Given the description of an element on the screen output the (x, y) to click on. 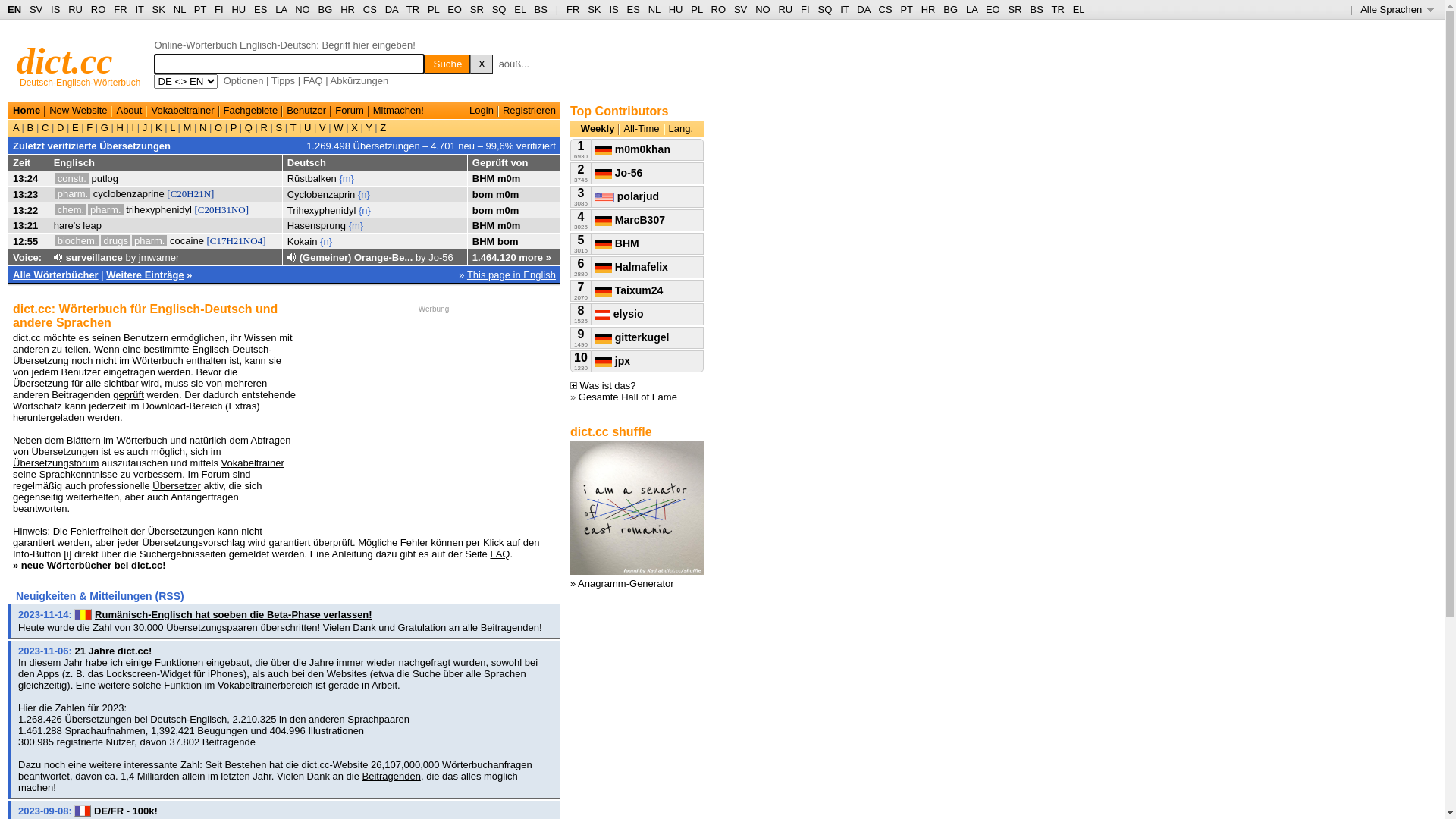
X Element type: text (354, 127)
RU Element type: text (785, 9)
L Element type: text (172, 127)
Suche Element type: text (447, 63)
F Element type: text (89, 127)
FAQ Element type: text (499, 553)
m0m Element type: text (506, 193)
NO Element type: text (302, 9)
G Element type: text (103, 127)
PL Element type: text (696, 9)
IS Element type: text (613, 9)
EL Element type: text (1079, 9)
FI Element type: text (218, 9)
(Gemeiner) Orange-Be... Element type: text (356, 257)
pharm. Element type: text (72, 193)
13:24 Element type: text (24, 178)
PT Element type: text (906, 9)
jpx Element type: text (612, 360)
dict.cc Element type: text (64, 60)
I Element type: text (132, 127)
Gesamte Hall of Fame Element type: text (627, 396)
constr. Element type: text (71, 178)
Forum Element type: text (349, 110)
Login Element type: text (481, 110)
Q Element type: text (247, 127)
LA Element type: text (280, 9)
Benutzer Element type: text (306, 110)
W Element type: text (338, 127)
BS Element type: text (540, 9)
Lang. Element type: text (680, 128)
TR Element type: text (1057, 9)
X Element type: text (481, 63)
MarcB307 Element type: text (630, 219)
U Element type: text (307, 127)
E Element type: text (75, 127)
biochem. Element type: text (77, 240)
SV Element type: text (740, 9)
drugs Element type: text (115, 240)
About Element type: text (128, 110)
HR Element type: text (347, 9)
bom Element type: text (507, 240)
FI Element type: text (804, 9)
SV Element type: text (35, 9)
pharm. Element type: text (148, 240)
CS Element type: text (369, 9)
Alle Sprachen  Element type: text (1397, 9)
BHM Element type: text (617, 243)
m0m Element type: text (508, 178)
andere Sprachen Element type: text (61, 322)
gitterkugel Element type: text (631, 337)
CS Element type: text (884, 9)
cyclobenzaprine [C20H21N] Element type: text (153, 193)
bom Element type: text (482, 210)
Taixum24 Element type: text (628, 290)
LA Element type: text (971, 9)
SK Element type: text (593, 9)
trihexyphenidyl [C20H31NO] Element type: text (186, 209)
Jo-56 Element type: text (440, 257)
EO Element type: text (992, 9)
13:23 Element type: text (24, 193)
NL Element type: text (179, 9)
Halmafelix Element type: text (631, 266)
bom Element type: text (482, 193)
FR Element type: text (119, 9)
HU Element type: text (238, 9)
jmwarner Element type: text (158, 257)
DA Element type: text (862, 9)
M Element type: text (187, 127)
Y Element type: text (368, 127)
NO Element type: text (762, 9)
PT Element type: text (200, 9)
O Element type: text (217, 127)
R Element type: text (263, 127)
hare's leap Element type: text (77, 225)
Weekly Element type: text (597, 128)
pharm. Element type: text (104, 209)
RO Element type: text (98, 9)
T Element type: text (292, 127)
Beitragenden Element type: text (509, 627)
C Element type: text (44, 127)
ES Element type: text (260, 9)
Tipps Element type: text (282, 80)
Vokabeltrainer Element type: text (252, 462)
cocaine [C17H21NO4] Element type: text (217, 240)
SR Element type: text (476, 9)
m0m Element type: text (506, 210)
SK Element type: text (158, 9)
polarjud Element type: text (626, 196)
BG Element type: text (325, 9)
K Element type: text (158, 127)
BS Element type: text (1035, 9)
FAQ Element type: text (313, 80)
J Element type: text (144, 127)
BHM Element type: text (483, 225)
Was ist das? Element type: text (603, 385)
m0m Element type: text (508, 225)
Home Element type: text (26, 110)
S Element type: text (279, 127)
B Element type: text (30, 127)
PL Element type: text (433, 9)
RO Element type: text (718, 9)
12:55 Element type: text (24, 240)
D Element type: text (59, 127)
IT Element type: text (844, 9)
Fachgebiete Element type: text (250, 110)
HU Element type: text (675, 9)
Z Element type: text (381, 127)
A Element type: text (16, 127)
IT Element type: text (138, 9)
RU Element type: text (75, 9)
EO Element type: text (454, 9)
Vokabeltrainer Element type: text (181, 110)
13:21 Element type: text (24, 225)
Jo-56 Element type: text (618, 172)
HR Element type: text (928, 9)
P Element type: text (233, 127)
13:22 Element type: text (24, 210)
RSS Element type: text (169, 595)
This page in English Element type: text (511, 273)
NL Element type: text (654, 9)
Mitmachen! Element type: text (398, 110)
BHM Element type: text (483, 240)
N Element type: text (202, 127)
Voice: Element type: text (26, 257)
V Element type: text (322, 127)
ES Element type: text (633, 9)
BHM Element type: text (483, 178)
SQ Element type: text (824, 9)
New Website Element type: text (77, 110)
m0m0khan Element type: text (632, 149)
chem. Element type: text (70, 209)
EL Element type: text (519, 9)
EN Element type: text (14, 9)
surveillance Element type: text (93, 257)
SQ Element type: text (499, 9)
BG Element type: text (950, 9)
putlog Element type: text (104, 178)
elysio Element type: text (619, 313)
SR Element type: text (1015, 9)
IS Element type: text (54, 9)
Registrieren Element type: text (528, 110)
Beitragenden Element type: text (391, 775)
DA Element type: text (391, 9)
Optionen Element type: text (243, 80)
FR Element type: text (572, 9)
All-Time Element type: text (640, 128)
TR Element type: text (412, 9)
H Element type: text (119, 127)
